Given the description of an element on the screen output the (x, y) to click on. 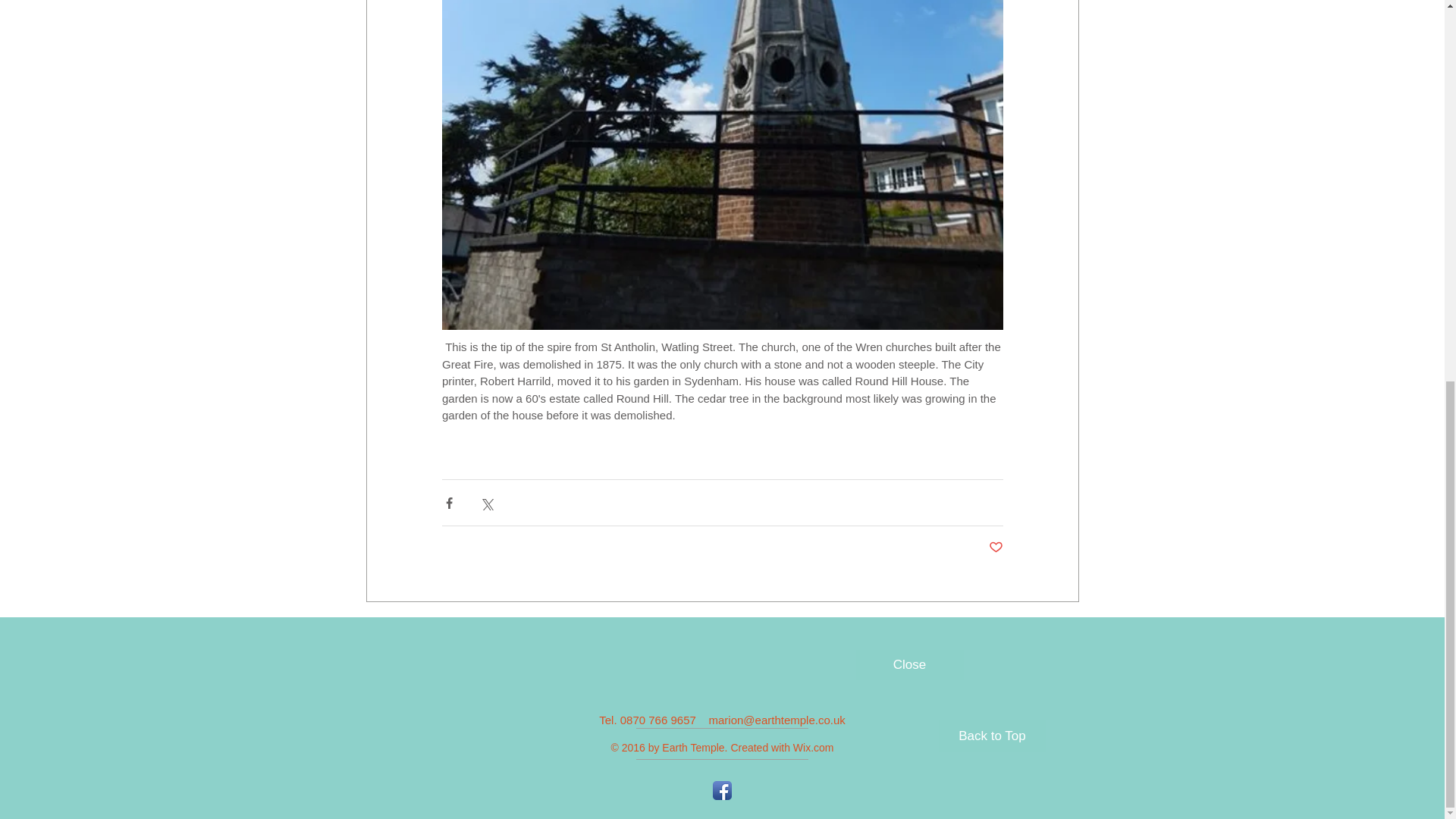
Close (909, 665)
Wix.com (813, 747)
Back to Top (992, 736)
Post not marked as liked (995, 547)
